Given the description of an element on the screen output the (x, y) to click on. 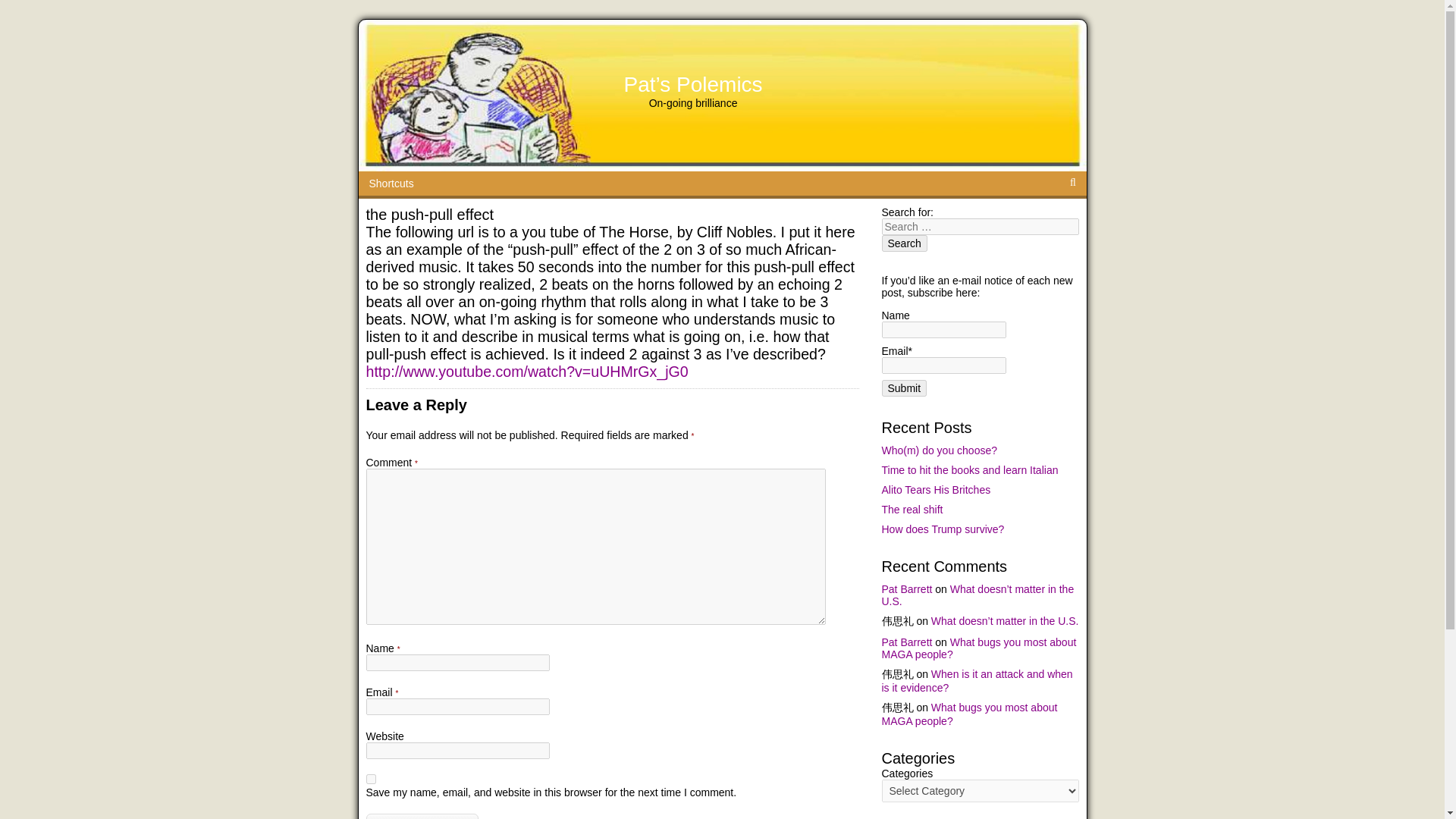
Post Comment (422, 816)
Search (903, 243)
Time to hit the books and learn Italian (969, 469)
Search (903, 243)
Shortcuts (390, 183)
When is it an attack and when is it evidence? (975, 680)
Submit (903, 388)
What bugs you most about MAGA people? (977, 648)
yes (370, 778)
What bugs you most about MAGA people? (968, 714)
